Given the description of an element on the screen output the (x, y) to click on. 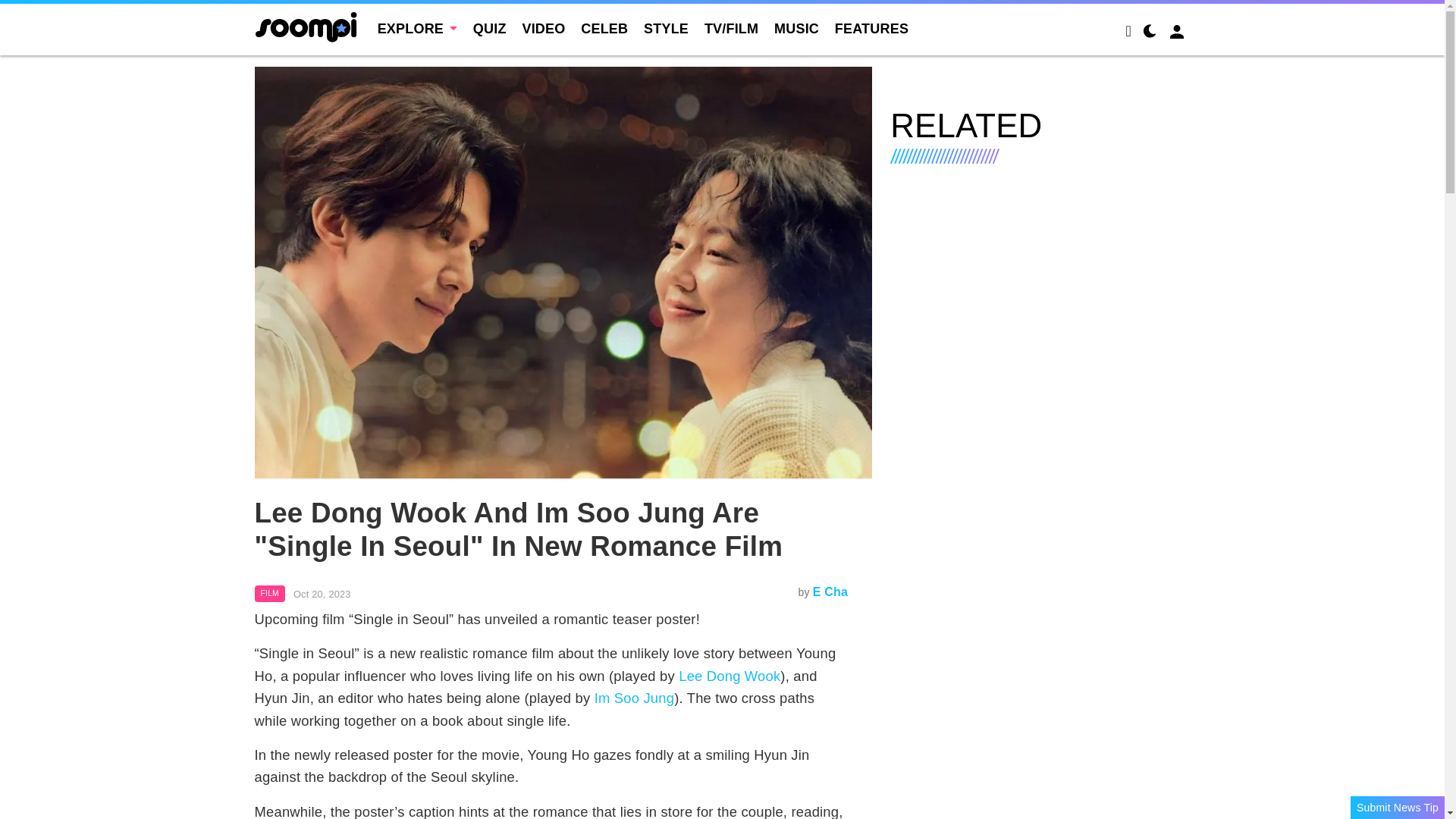
FEATURES (871, 28)
Articles by E Cha (829, 591)
MUSIC (796, 28)
Lee Dong Wook (729, 675)
FILM (269, 593)
Im Soo Jung (634, 697)
Film (269, 593)
QUIZ (489, 28)
CELEB (603, 28)
EXPLORE (417, 28)
VIDEO (542, 28)
E Cha (829, 591)
STYLE (665, 28)
Night Mode Toggle (1149, 33)
